Given the description of an element on the screen output the (x, y) to click on. 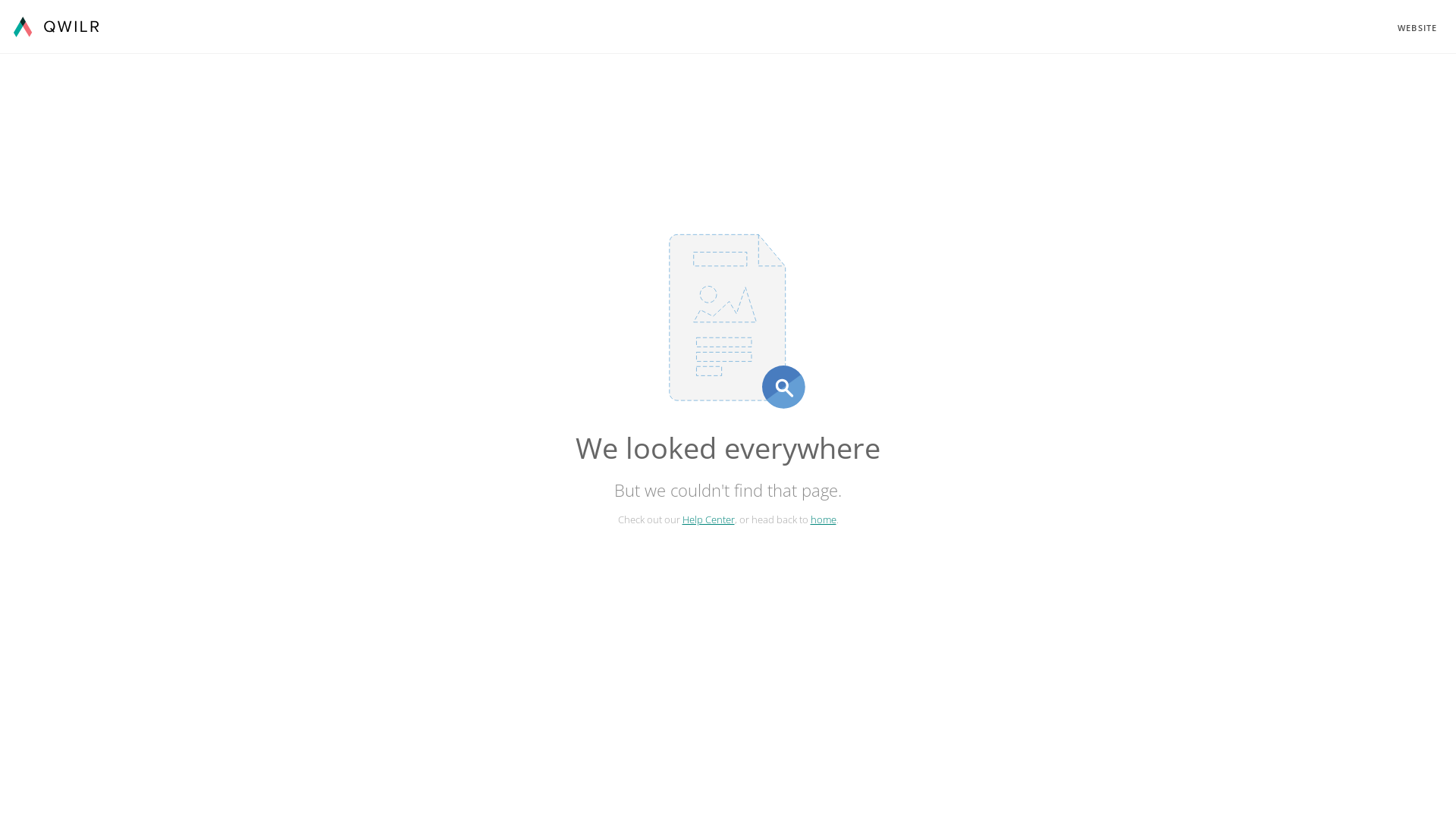
Help Center Element type: text (708, 519)
WEBSITE Element type: text (1417, 27)
home Element type: text (822, 519)
